Given the description of an element on the screen output the (x, y) to click on. 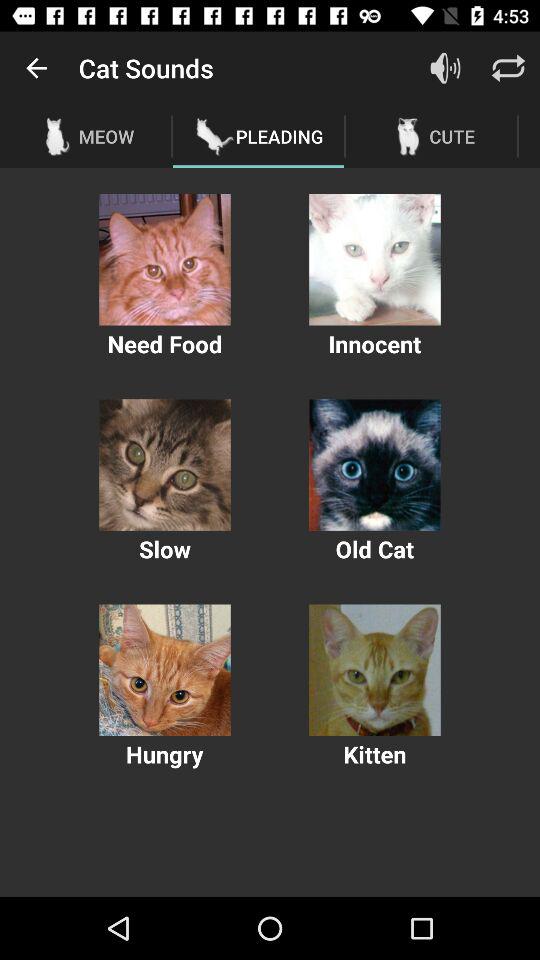
lets you choose a certain kind of cat (374, 259)
